Given the description of an element on the screen output the (x, y) to click on. 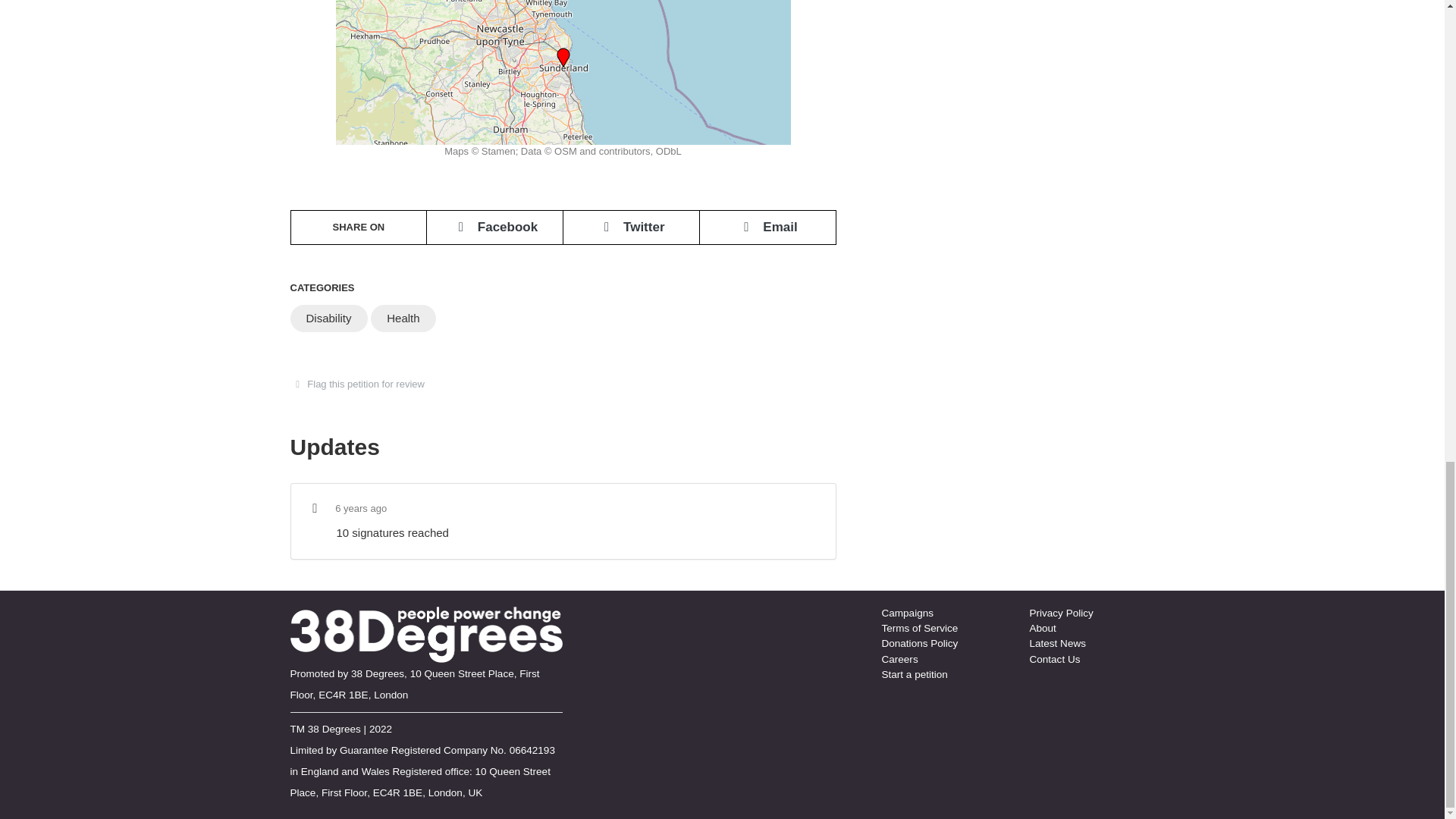
Terms of Service (919, 627)
Share on Facebook (494, 226)
Email (766, 226)
Disability (327, 318)
Share via Email (766, 226)
Careers (898, 659)
Share on Twitter (631, 226)
Facebook (494, 226)
Health (403, 318)
Flag this petition for review (361, 384)
Donations Policy (919, 643)
Start a petition (913, 674)
Twitter (631, 226)
Campaigns (906, 613)
